Given the description of an element on the screen output the (x, y) to click on. 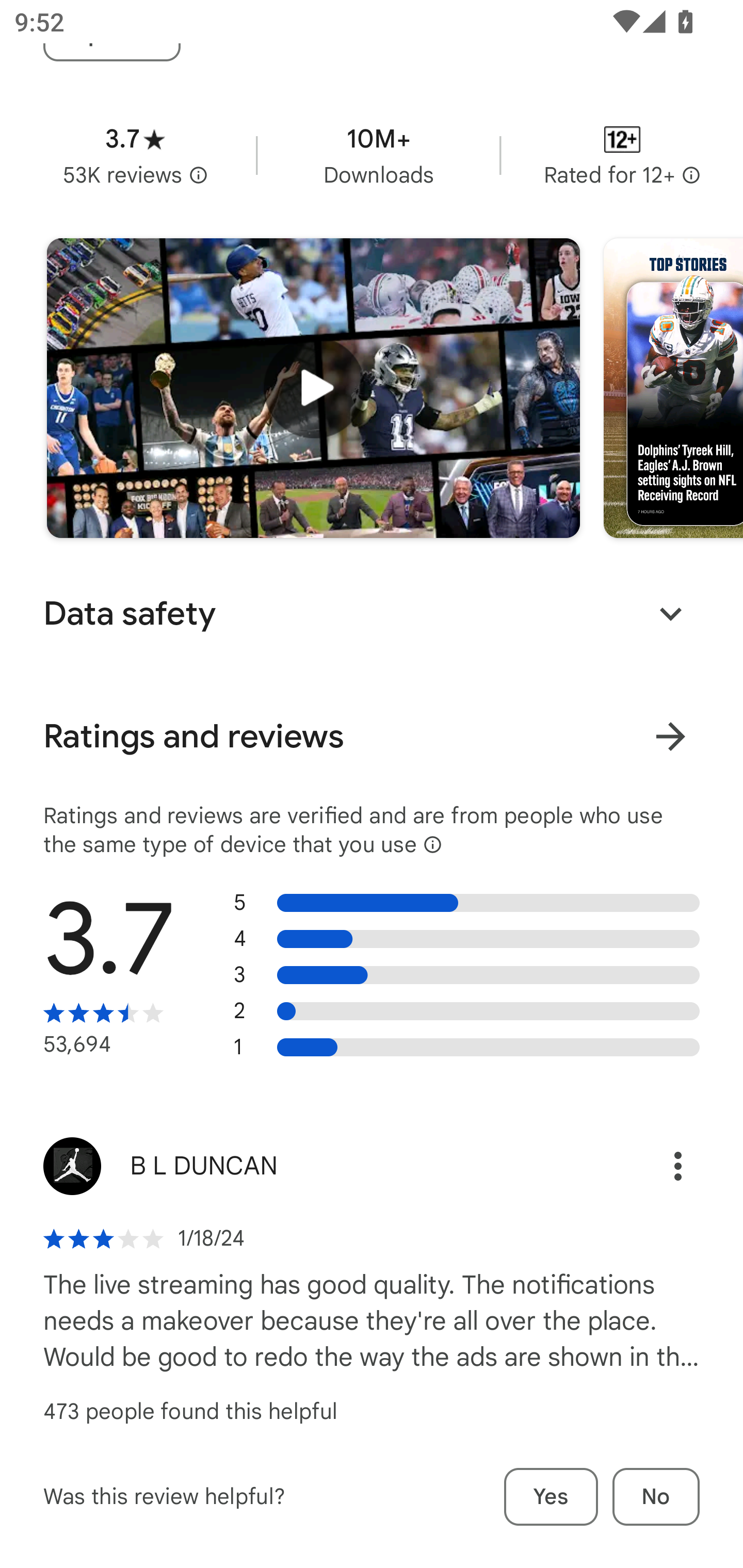
Average rating 3.7 stars in 53 thousand reviews (135, 155)
Content rating Rated for 12+ (622, 155)
Play trailer for "FOX Sports: Watch Live" (313, 387)
Data safety Expand (371, 613)
Expand (670, 613)
Ratings and reviews View all ratings and reviews (371, 736)
View all ratings and reviews (670, 736)
Options (655, 1165)
Yes (550, 1496)
No (655, 1496)
